Given the description of an element on the screen output the (x, y) to click on. 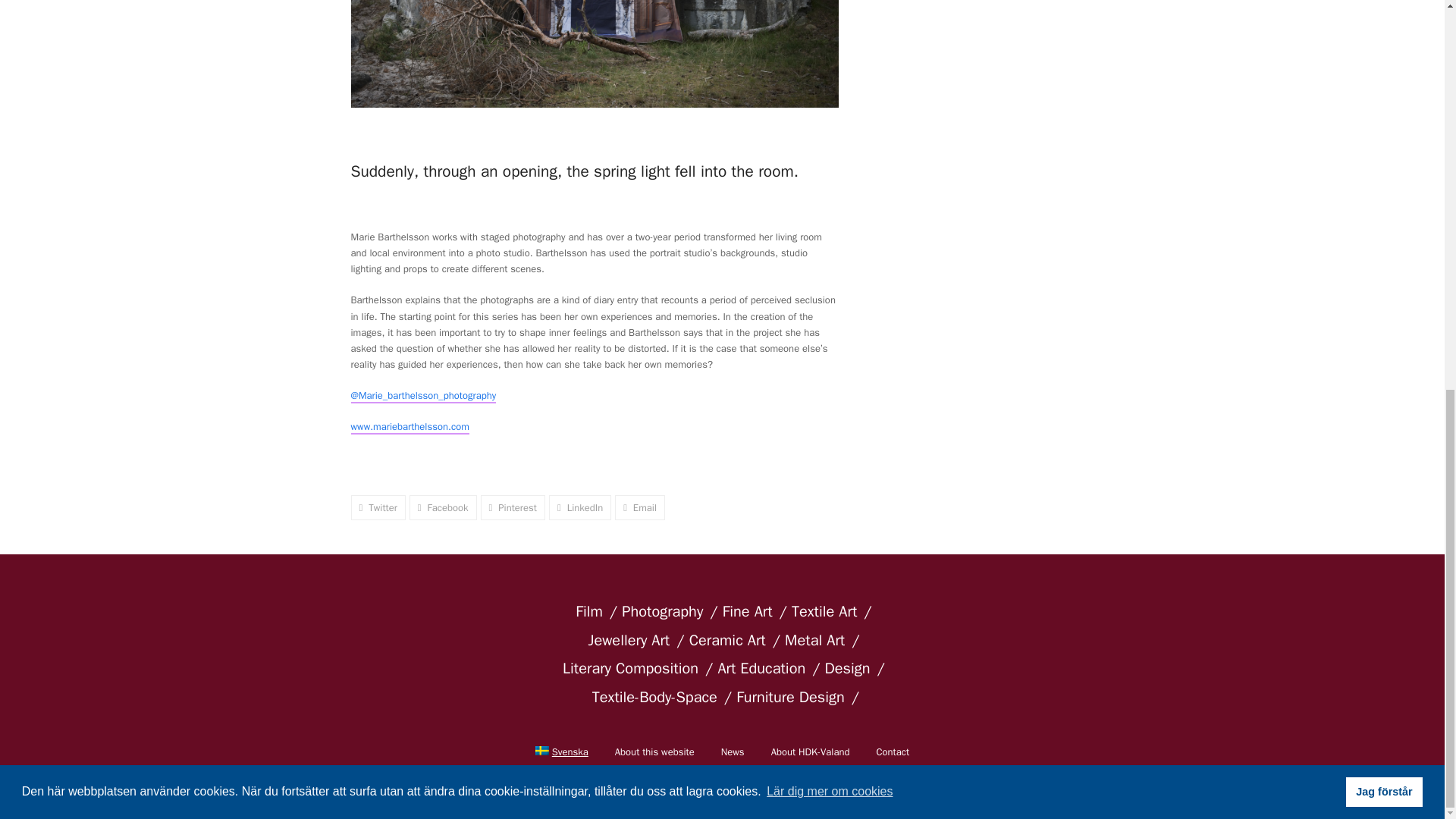
LinkedIn (579, 507)
Email (639, 507)
www.mariebarthelsson.com (409, 427)
Svenska (561, 751)
Pinterest (512, 507)
Film (593, 611)
Facebook (443, 507)
Twitter (377, 507)
